Given the description of an element on the screen output the (x, y) to click on. 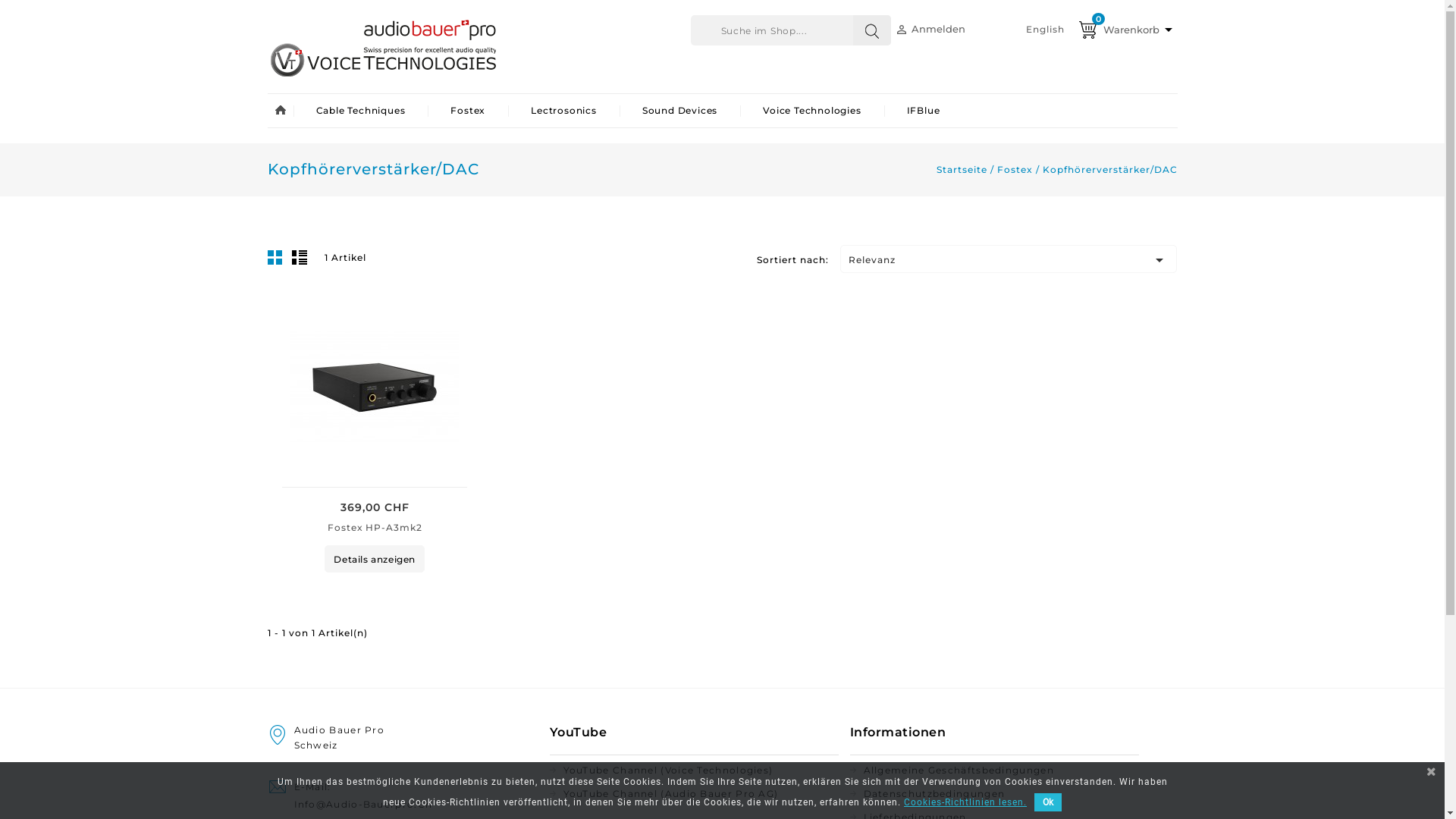
Ok Element type: text (1047, 802)
IFBlue Element type: text (923, 110)
Lectrosonics Element type: text (563, 110)
Voice Technologies Element type: text (811, 110)
YouTube Channel (Audio Bauer Pro AG) Element type: text (693, 793)
Details anzeigen Element type: text (374, 558)
List Element type: text (300, 261)
Datenschutzbedingungen Element type: text (993, 793)
Cookies-Richtlinien lesen. Element type: text (964, 801)
English Element type: text (1044, 28)
Cable Techniques Element type: text (359, 110)
Startseite Element type: text (962, 169)
Info@Audio-Bauerpro.Ch Element type: text (401, 804)
Fostex Element type: text (1015, 169)
Fostex Element type: text (467, 110)
Grid Element type: text (277, 261)
Fostex HP-A3mk2 Element type: text (374, 527)
YouTube Channel (Voice Technologies) Element type: text (693, 770)
Sound Devices Element type: text (679, 110)
